Given the description of an element on the screen output the (x, y) to click on. 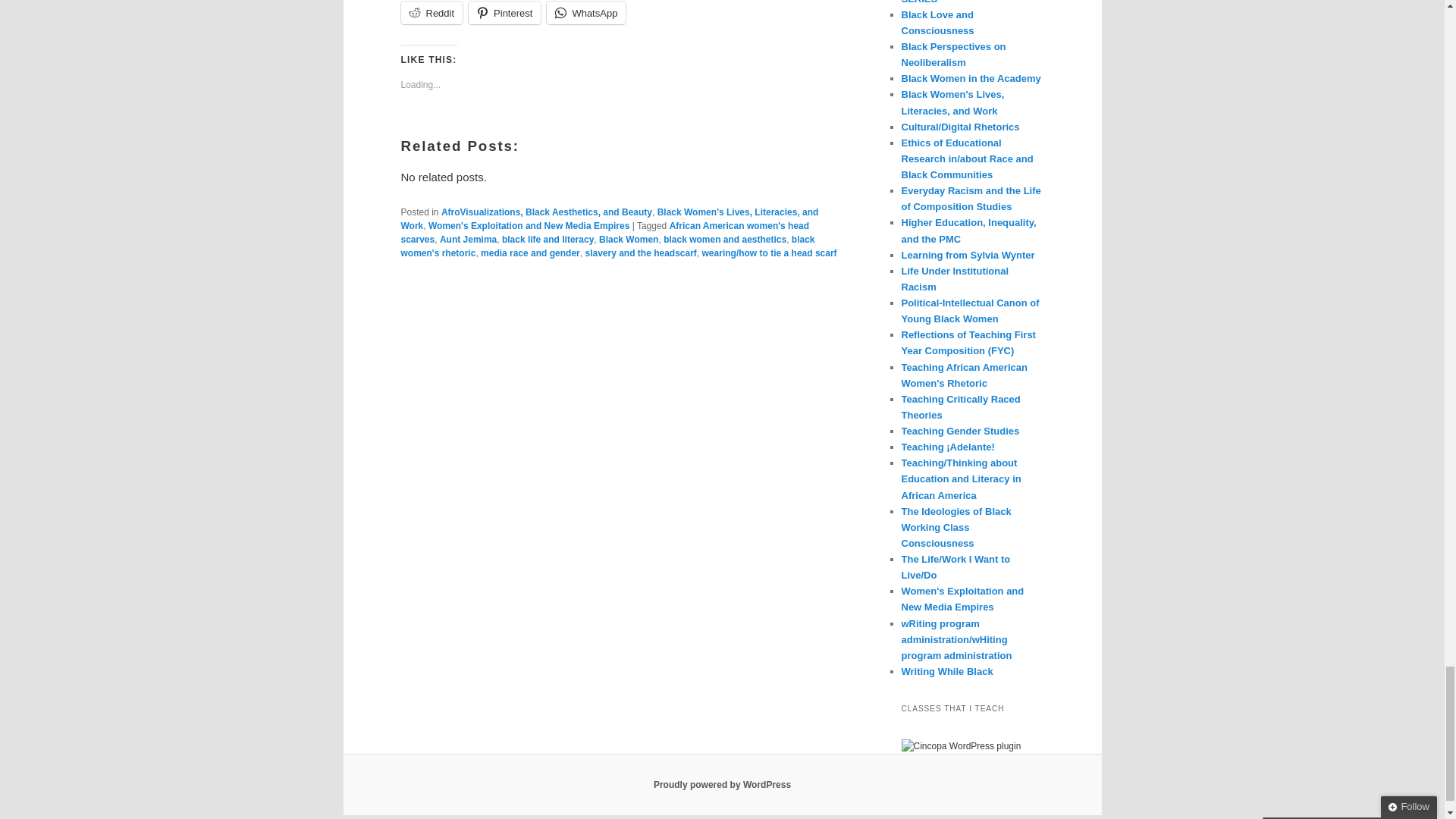
Semantic Personal Publishing Platform (721, 784)
Click to share on Reddit (431, 12)
Click to share on Pinterest (504, 12)
Click to share on WhatsApp (586, 12)
